Given the description of an element on the screen output the (x, y) to click on. 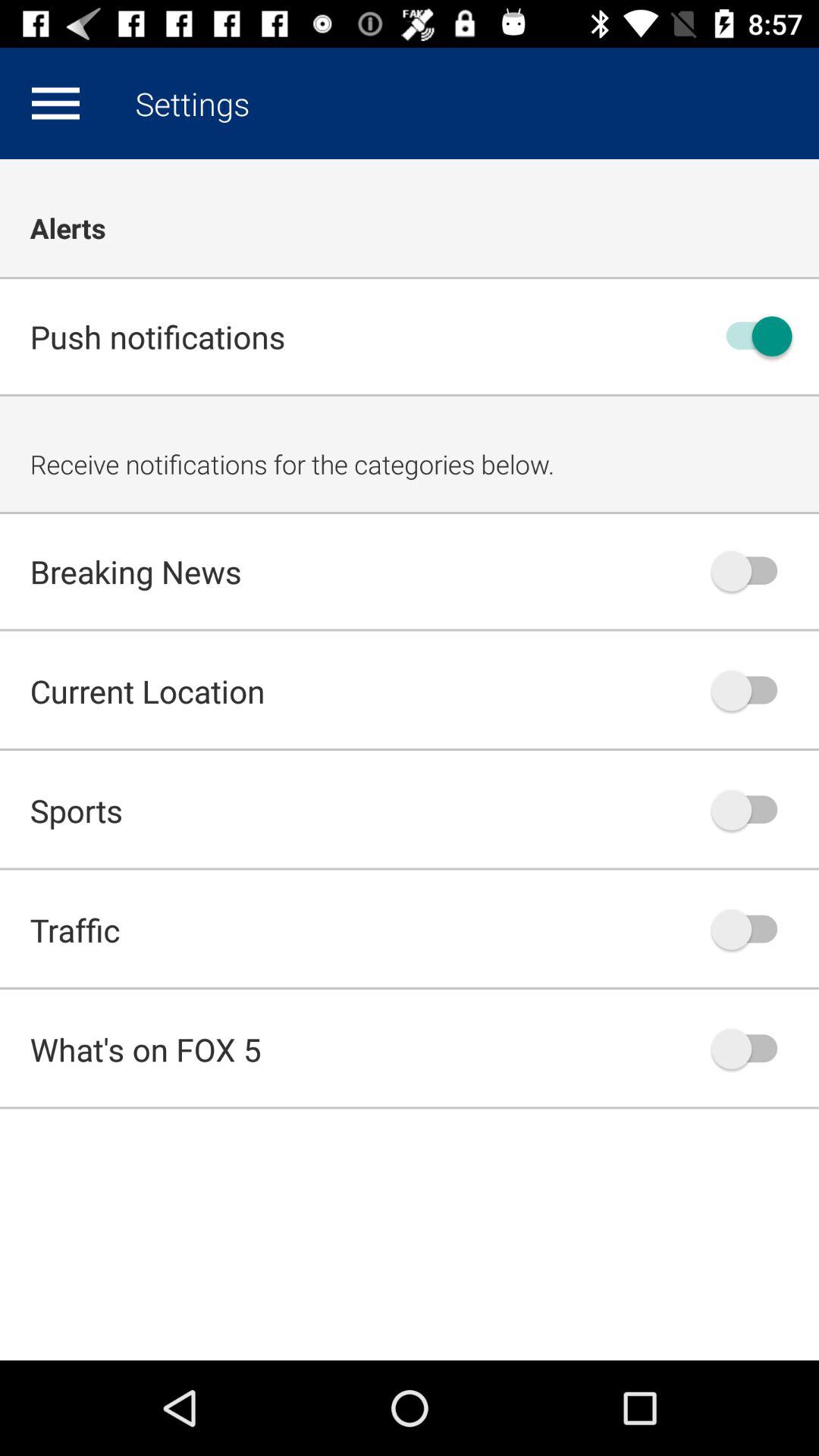
to receive notification with or without using the app (751, 336)
